Given the description of an element on the screen output the (x, y) to click on. 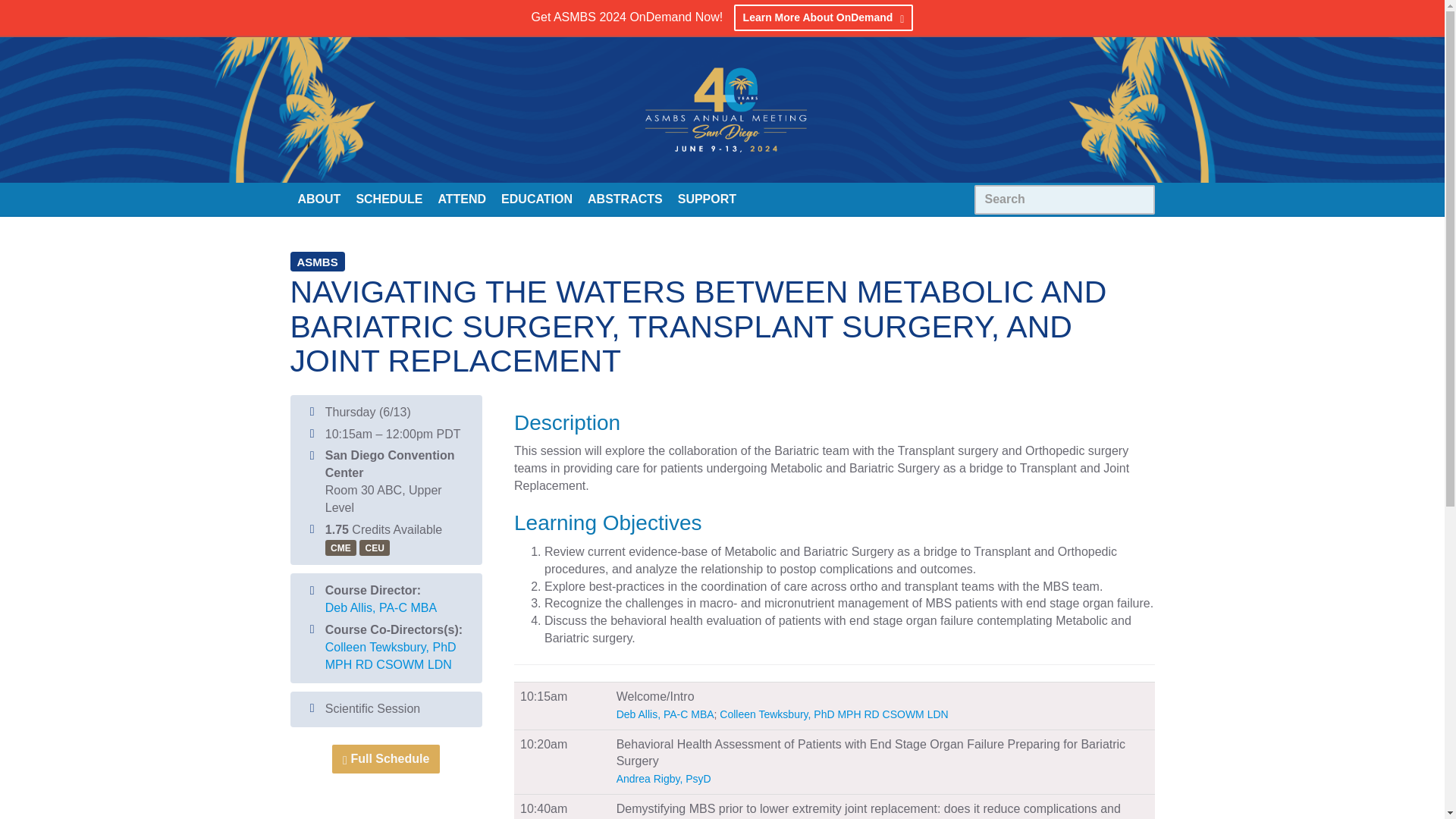
Learn More About OnDemand (823, 17)
ABOUT (318, 198)
Colleen Tewksbury, PhD MPH RD CSOWM LDN (390, 655)
Full Schedule (385, 758)
ABSTRACTS (624, 198)
SCHEDULE (388, 198)
ATTEND (461, 198)
EDUCATION (536, 198)
SUPPORT (706, 198)
Deb Allis, PA-C MBA (380, 607)
